Given the description of an element on the screen output the (x, y) to click on. 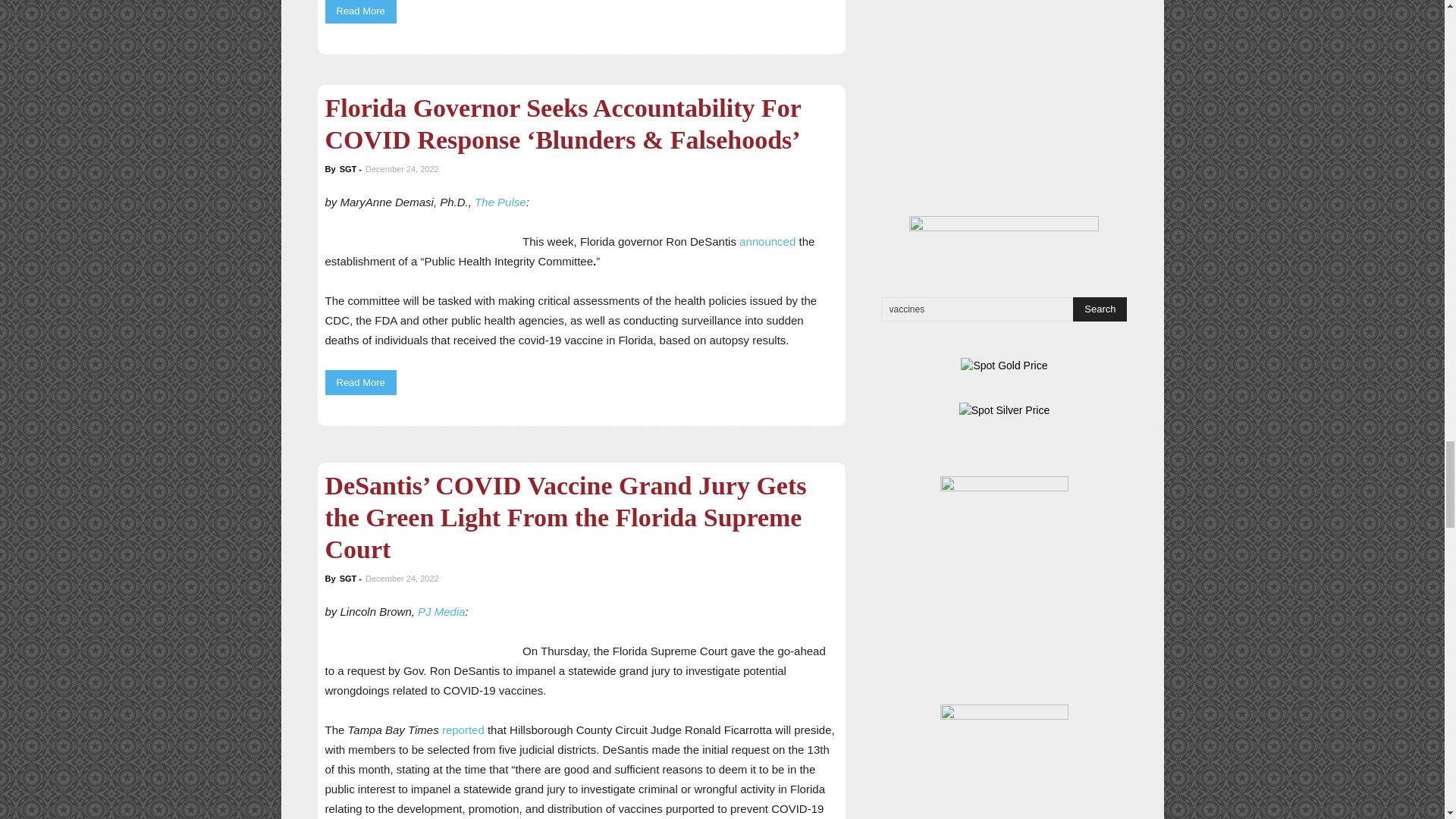
vaccines (997, 309)
vaccines (997, 309)
Search (1099, 309)
